Given the description of an element on the screen output the (x, y) to click on. 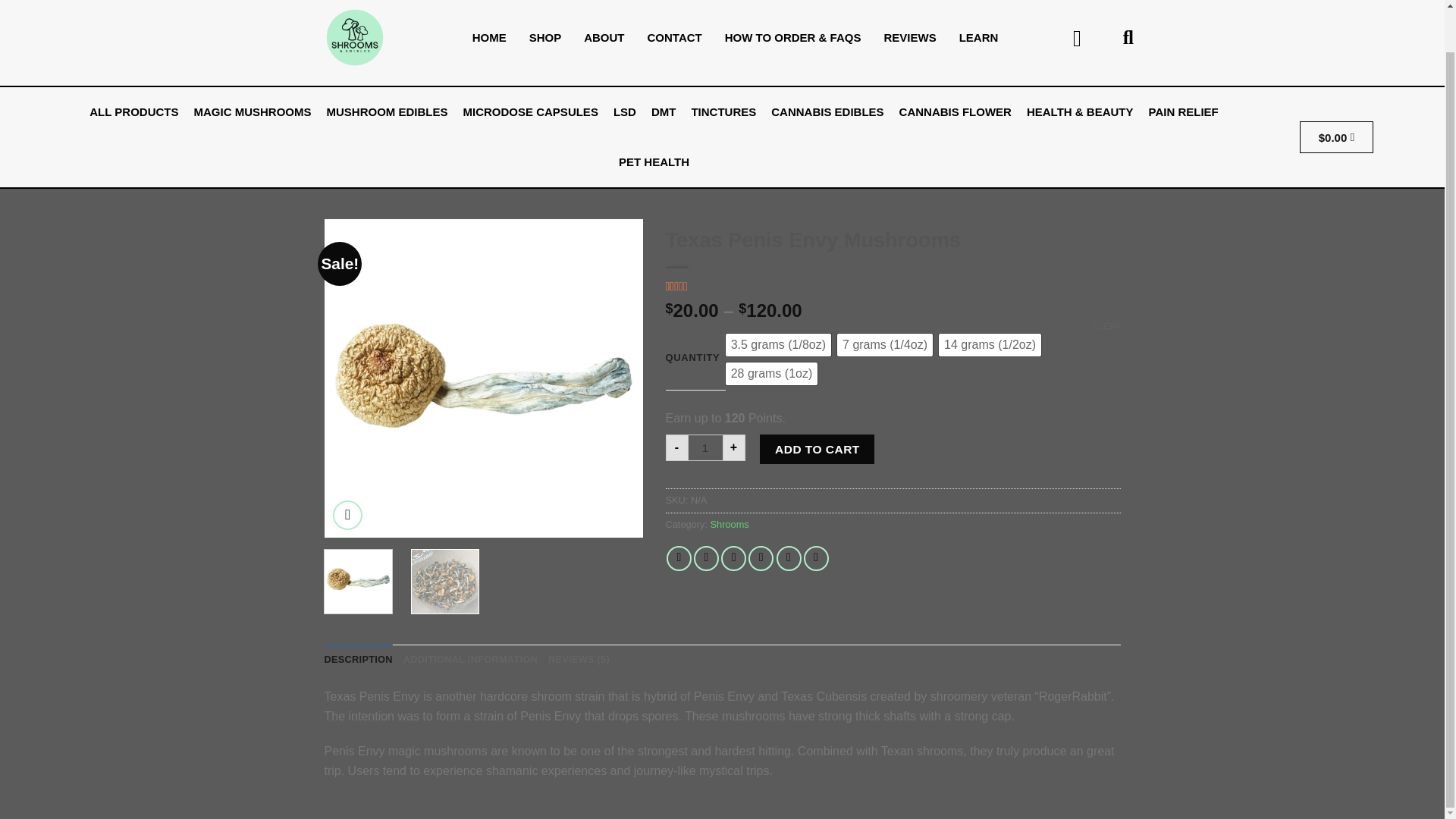
Email to a Friend (732, 558)
Zoom (347, 514)
MAGIC MUSHROOMS (252, 111)
PET HEALTH (654, 162)
PAIN RELIEF (1182, 111)
CANNABIS FLOWER (955, 111)
Pin on Pinterest (760, 558)
MICRODOSE CAPSULES (530, 111)
CANNABIS EDIBLES (826, 111)
Qty (705, 447)
